Given the description of an element on the screen output the (x, y) to click on. 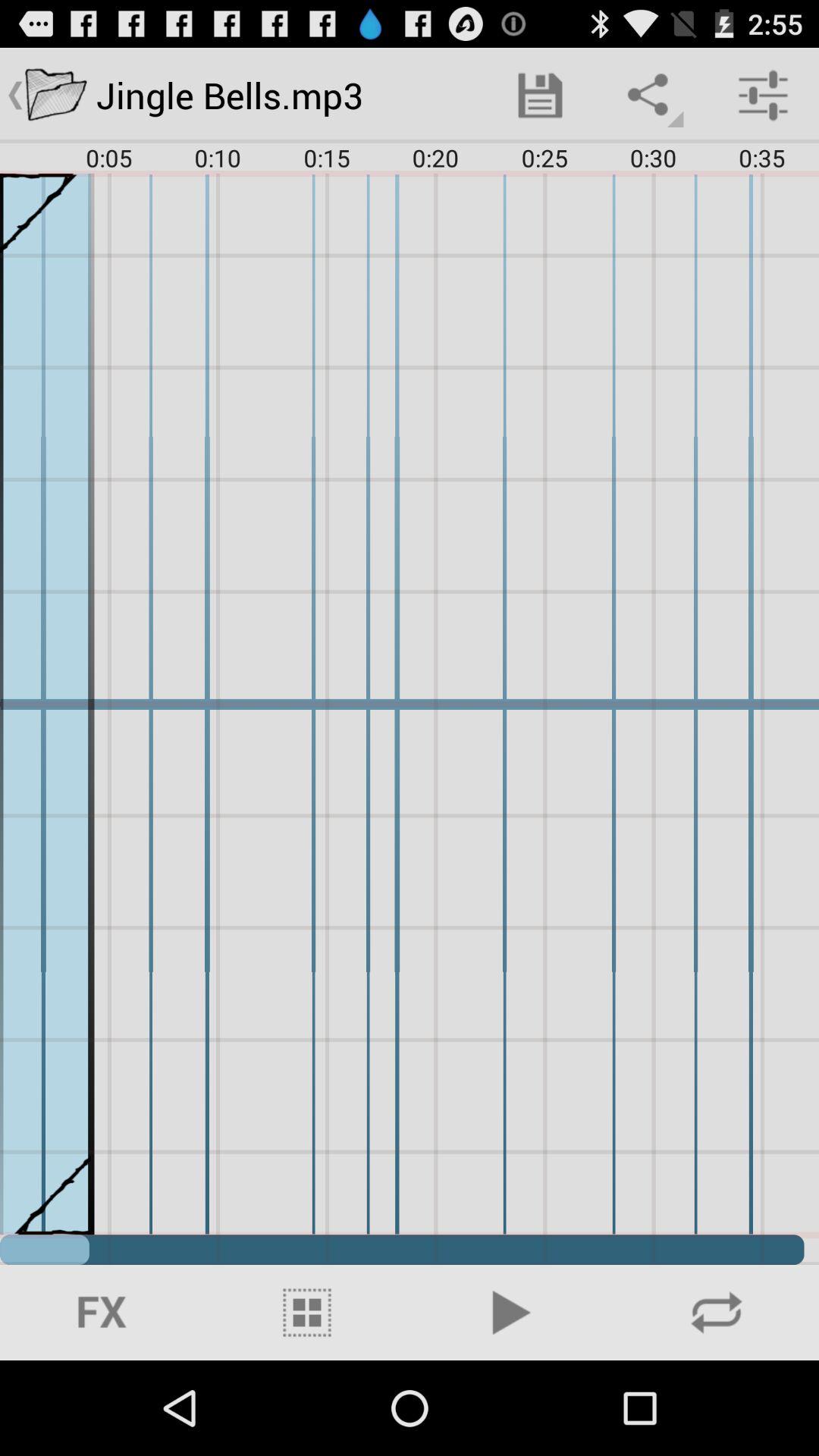
reload (716, 1312)
